Given the description of an element on the screen output the (x, y) to click on. 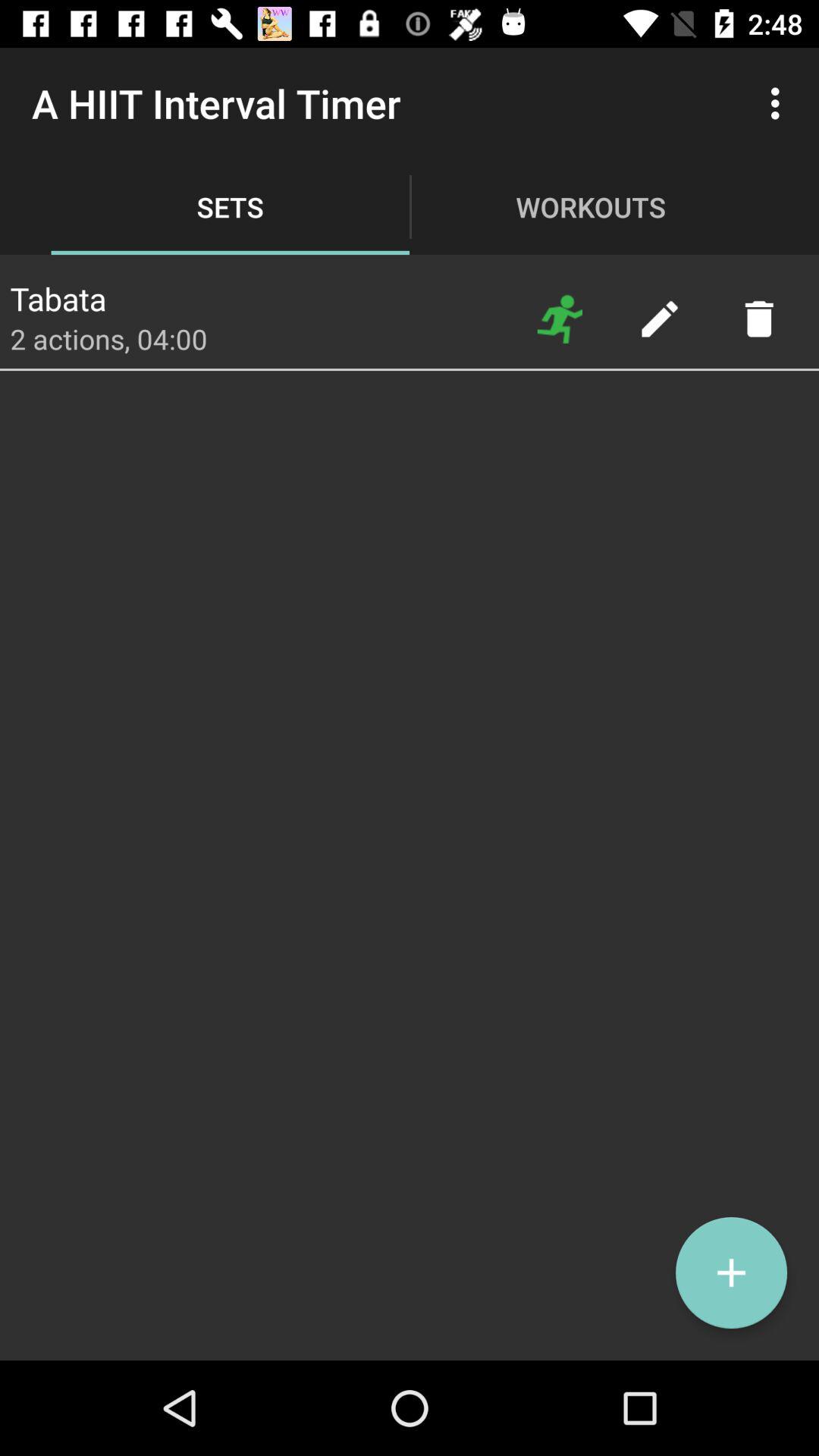
flip until the tabata icon (58, 294)
